Given the description of an element on the screen output the (x, y) to click on. 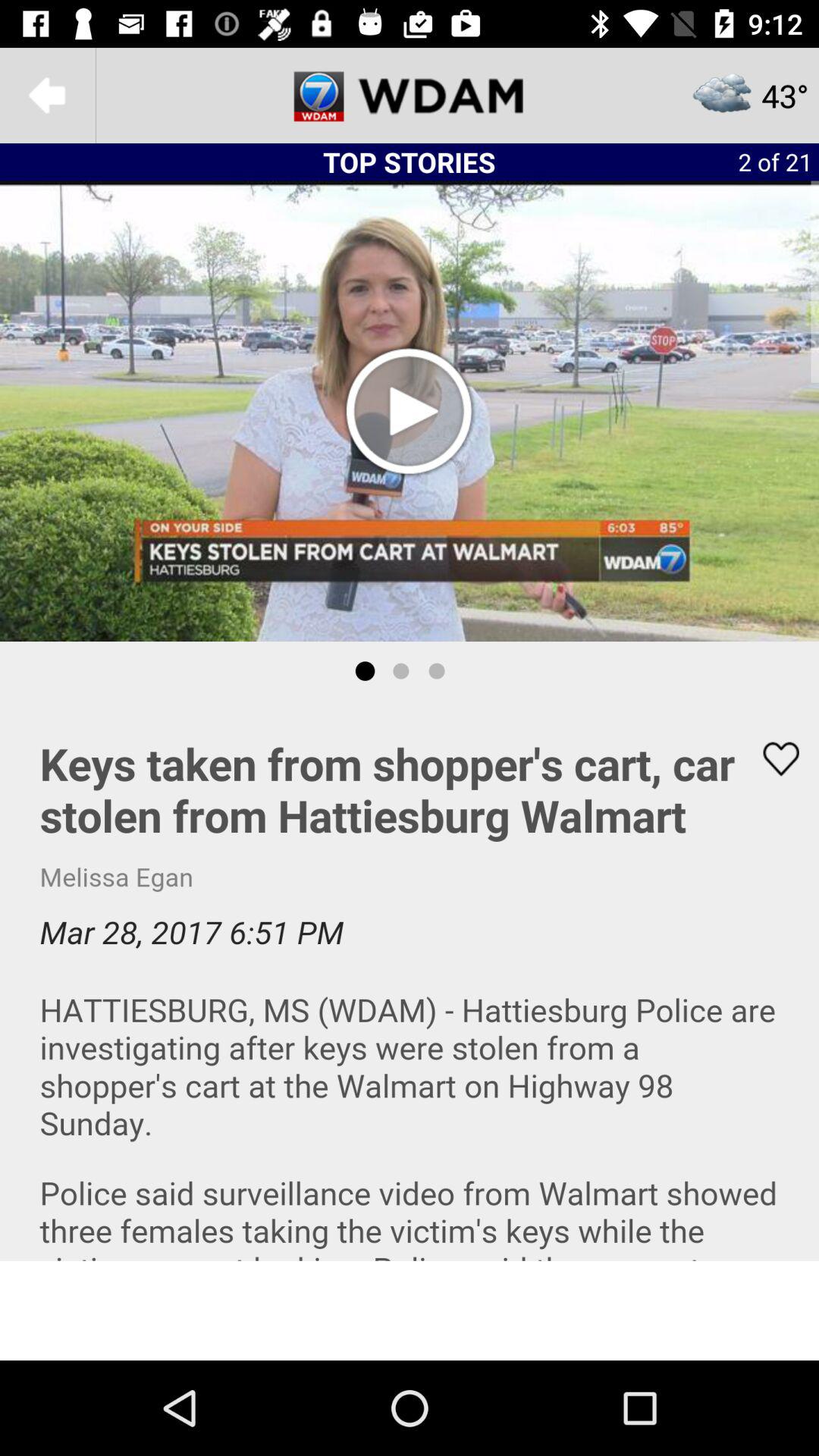
advertisement (409, 1310)
